Given the description of an element on the screen output the (x, y) to click on. 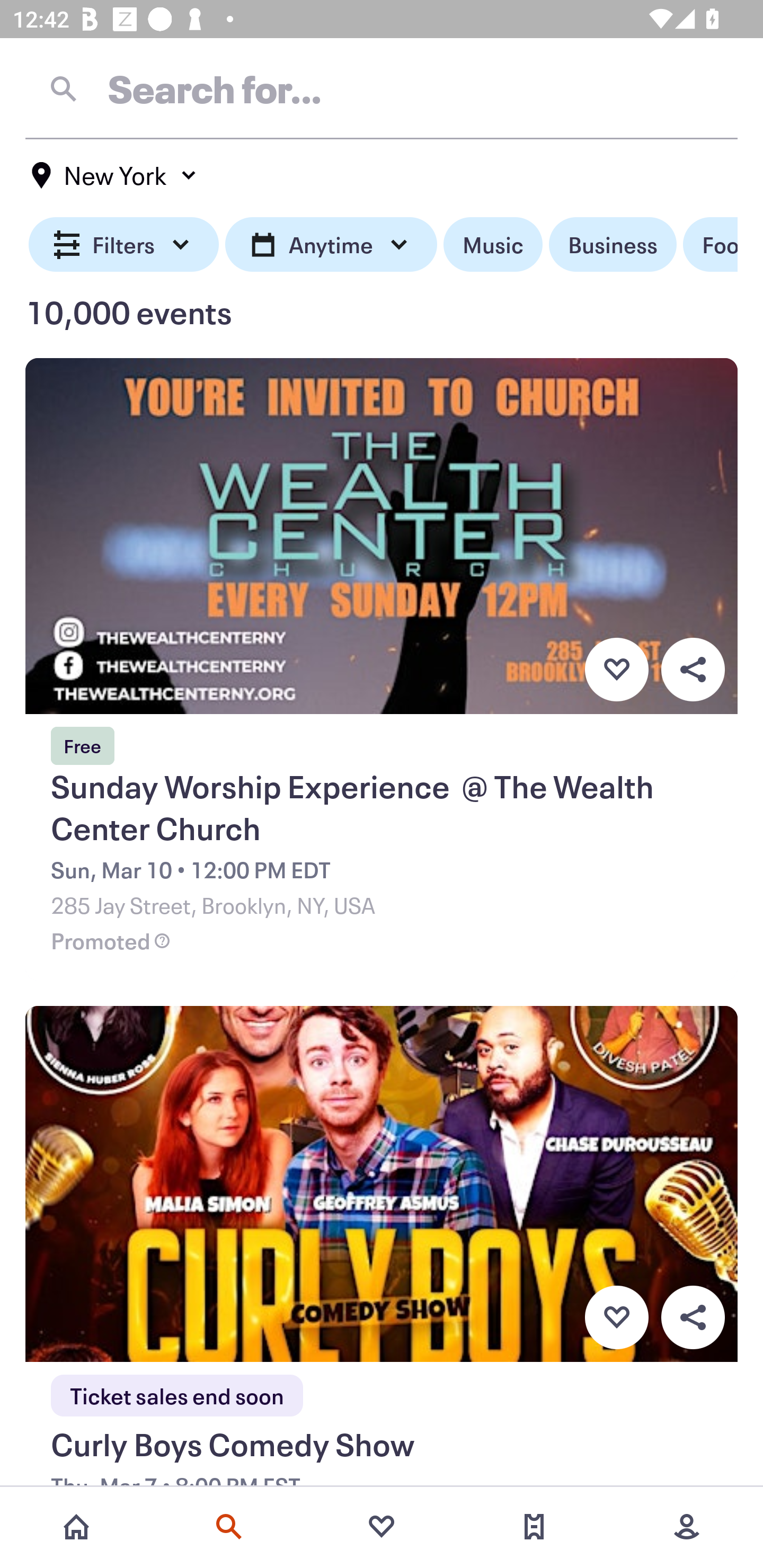
Search for… (381, 88)
New York (114, 175)
Filters (123, 244)
Anytime (331, 244)
Music (492, 244)
Business (612, 244)
Favorite button (616, 669)
Overflow menu button (692, 669)
Favorite button (616, 1317)
Overflow menu button (692, 1317)
Home (76, 1526)
Search events (228, 1526)
Favorites (381, 1526)
Tickets (533, 1526)
More (686, 1526)
